Given the description of an element on the screen output the (x, y) to click on. 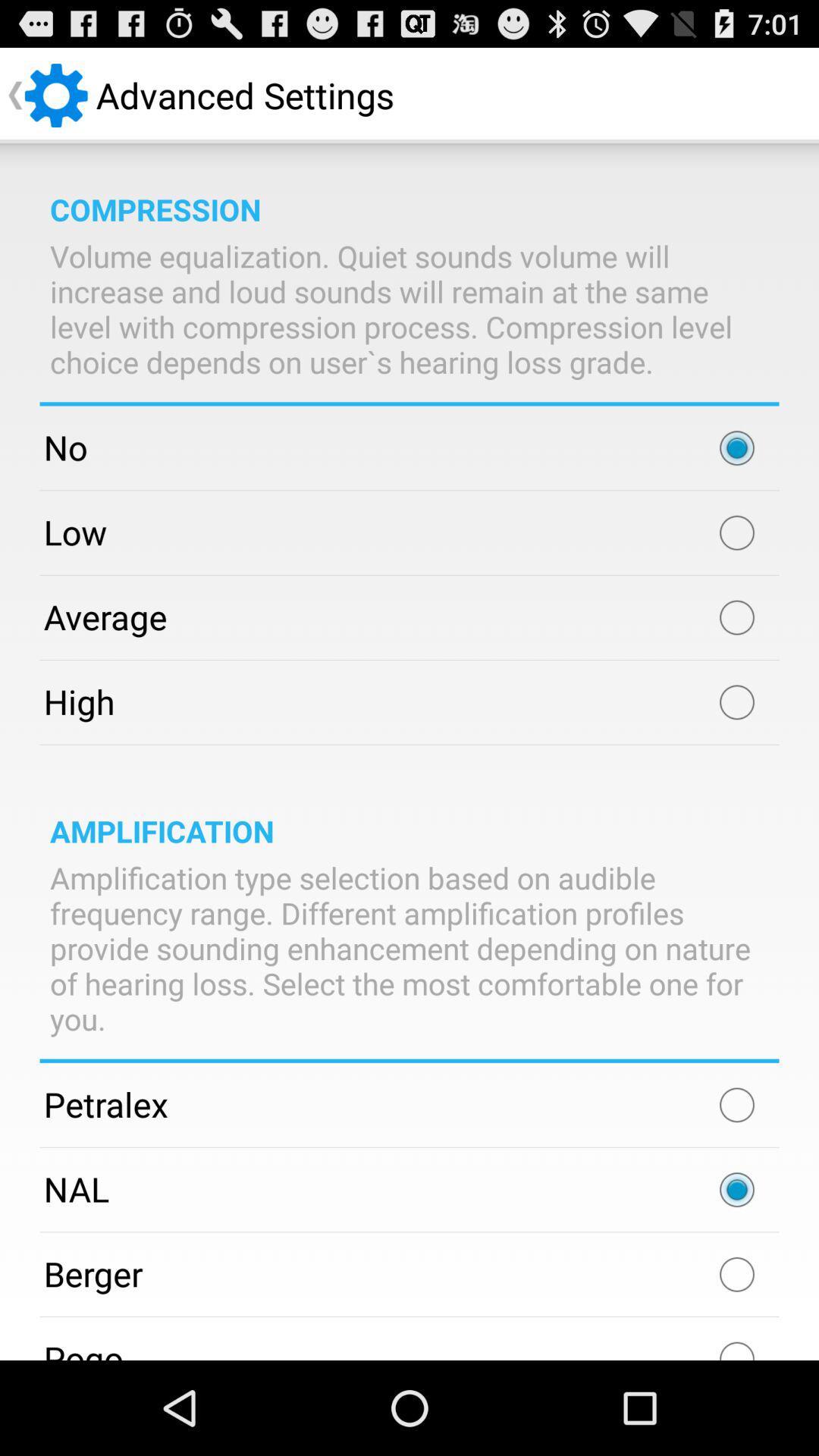
choose item next to berger (736, 1274)
